Given the description of an element on the screen output the (x, y) to click on. 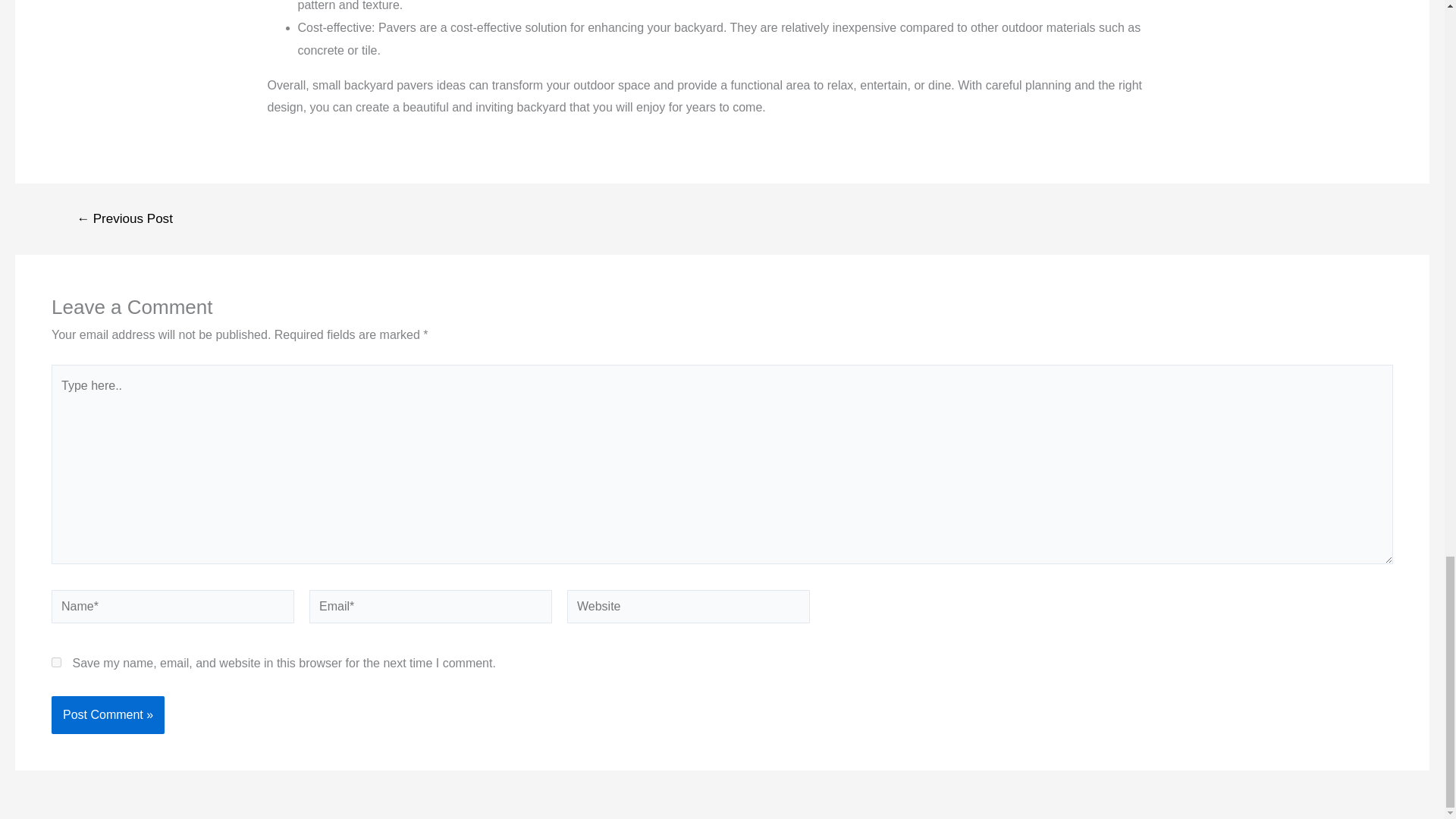
yes (55, 662)
